Given the description of an element on the screen output the (x, y) to click on. 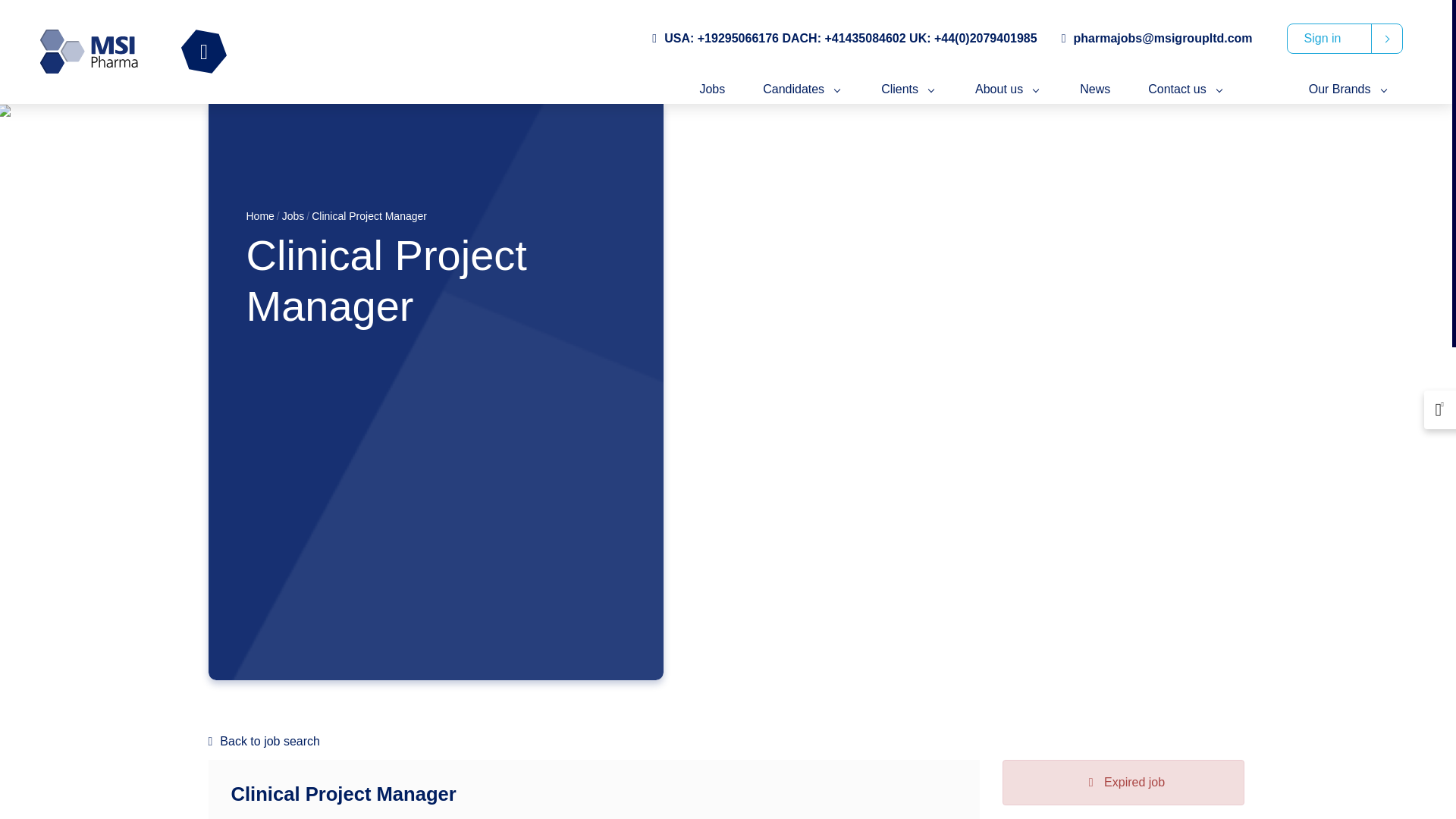
Back to job search (725, 741)
News (1095, 89)
About us (1008, 89)
Sign in (1345, 38)
Candidates (802, 89)
Our Brands (1349, 89)
Home (260, 215)
Jobs (293, 215)
Jobs (711, 89)
Clients (908, 89)
